Given the description of an element on the screen output the (x, y) to click on. 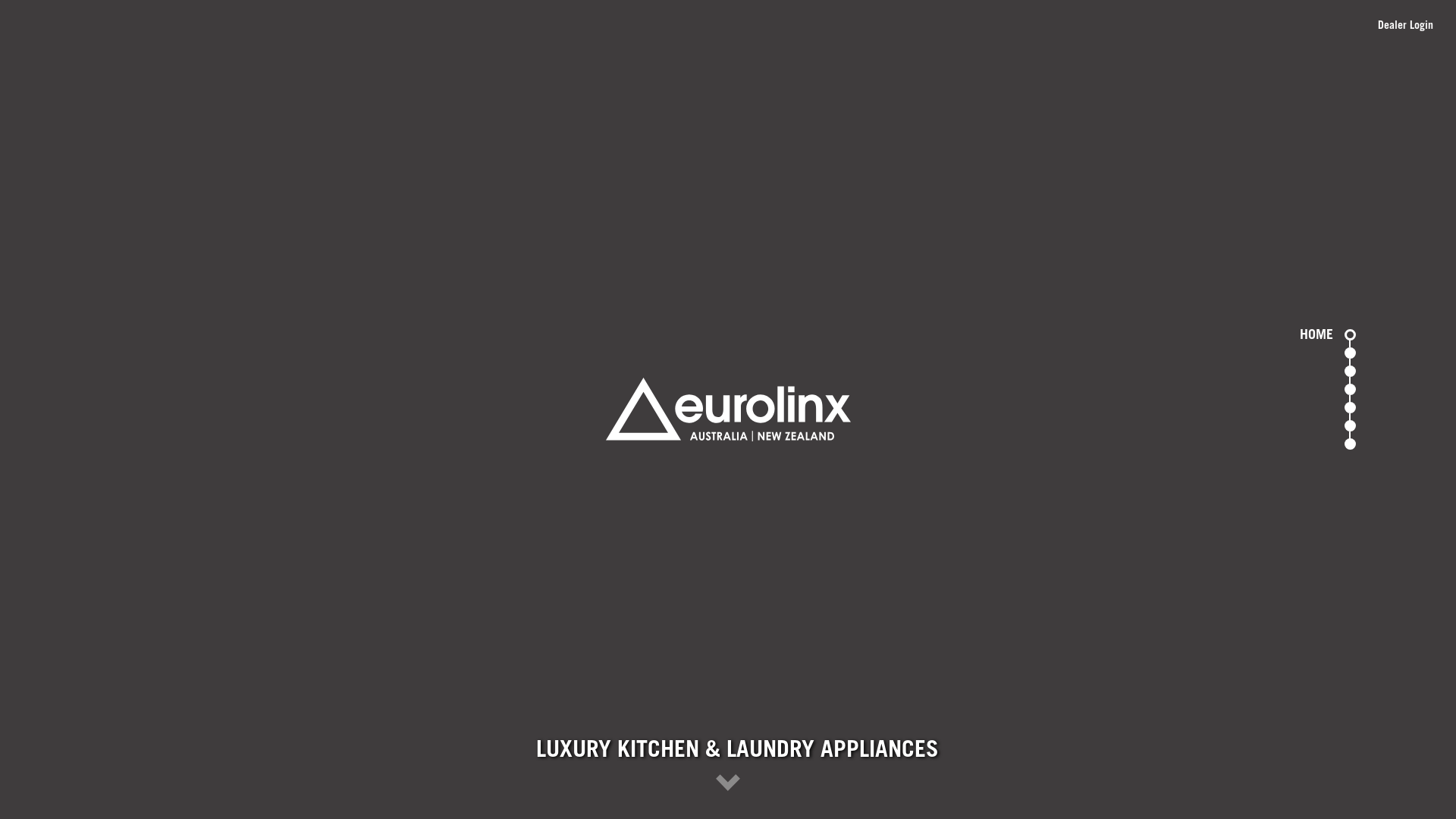
Eurolinx Element type: hover (728, 409)
HOME Element type: text (1349, 334)
